Given the description of an element on the screen output the (x, y) to click on. 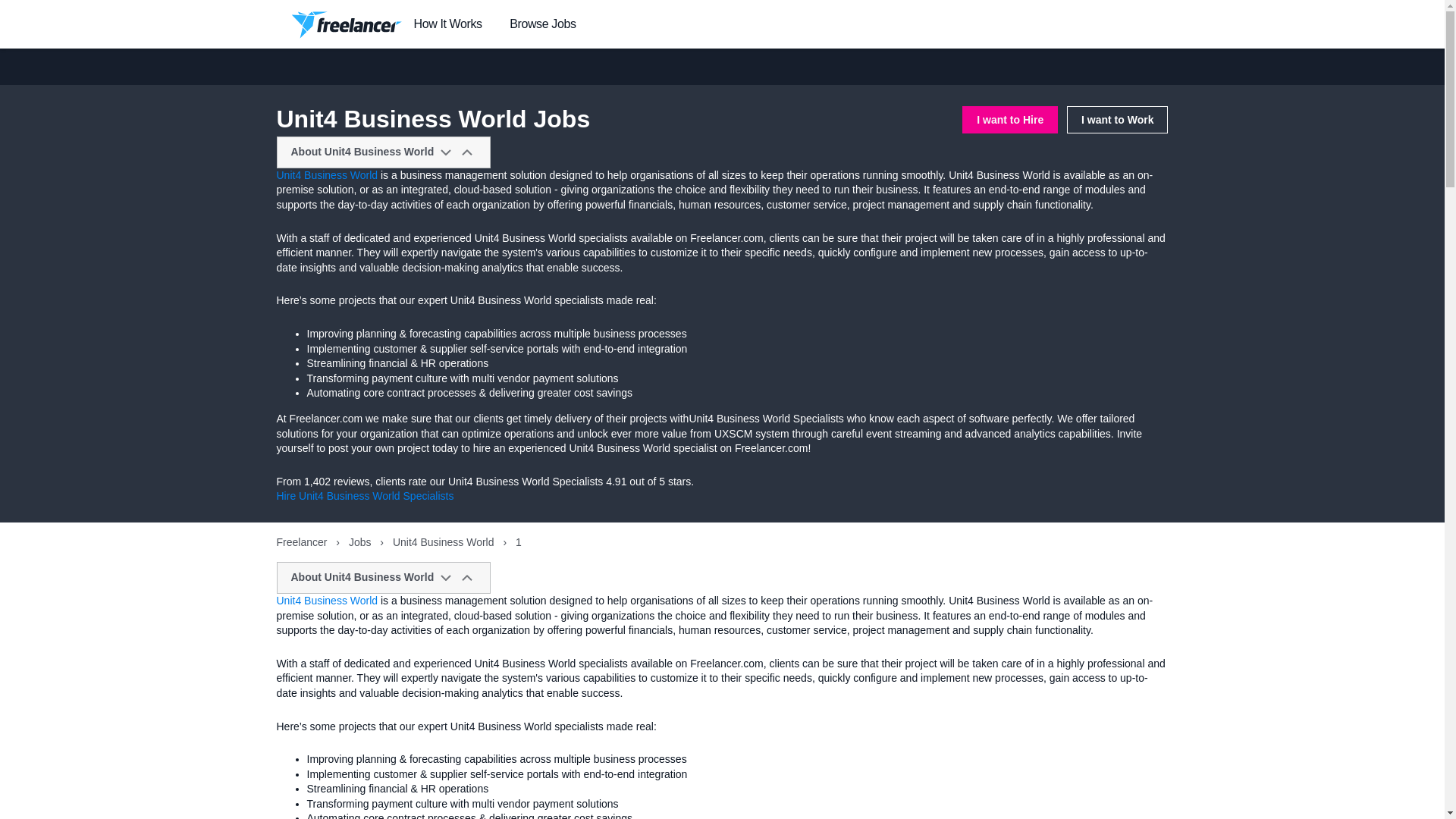
About Unit4 Business World (383, 577)
Jobs (361, 541)
I want to Hire (1010, 119)
Browse Jobs (542, 24)
Hire Unit4 Business World Specialists (364, 495)
Unit4 Business World (444, 541)
How It Works (447, 24)
Unit4 Business World (326, 600)
Freelancer (303, 541)
Unit4 Business World (326, 174)
